Given the description of an element on the screen output the (x, y) to click on. 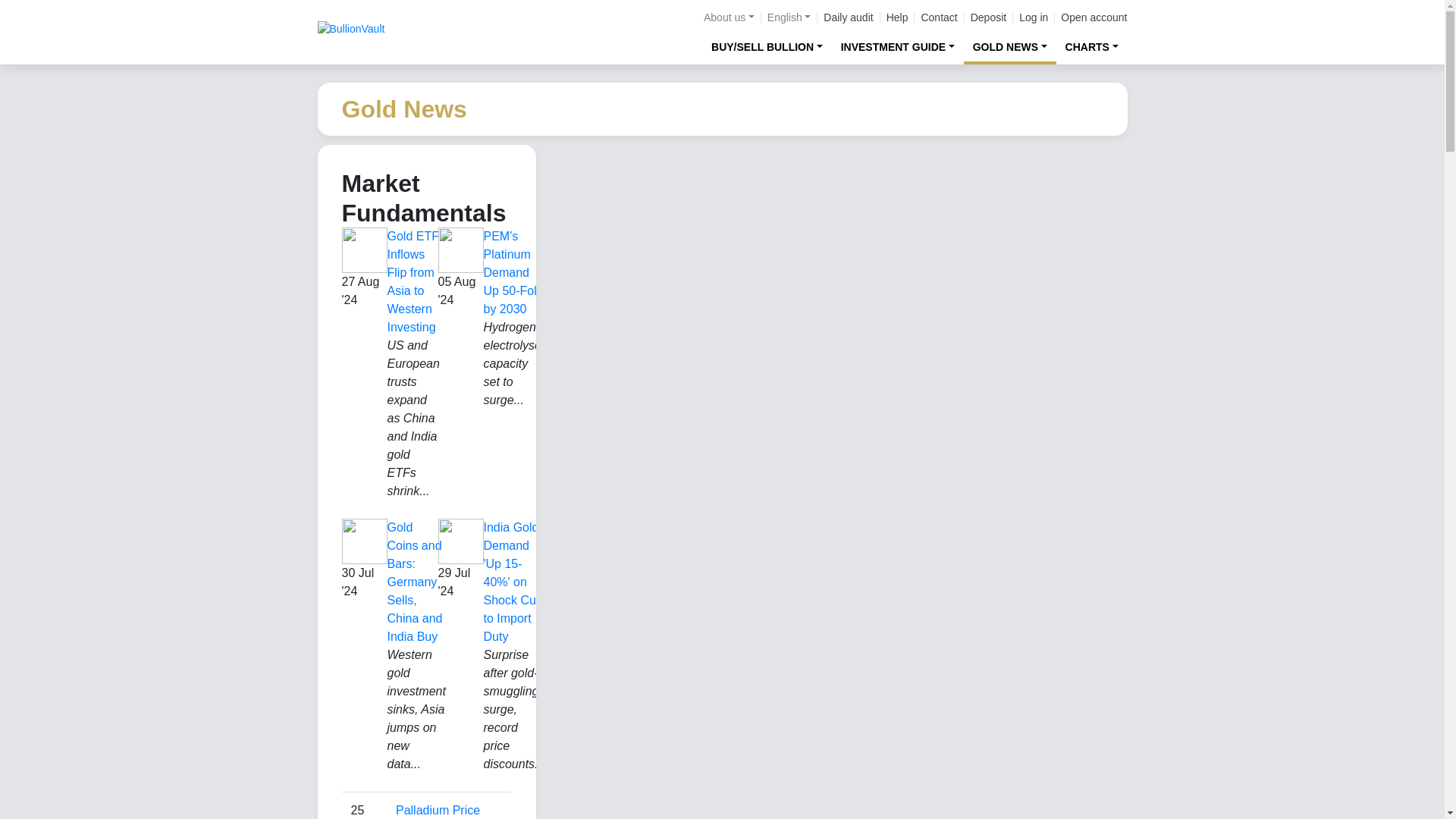
INVESTMENT GUIDE (897, 46)
About us (728, 17)
Help (897, 17)
English (788, 17)
Open account (1093, 17)
Deposit (988, 17)
Daily audit (848, 17)
Log in (1033, 17)
Contact (938, 17)
